Given the description of an element on the screen output the (x, y) to click on. 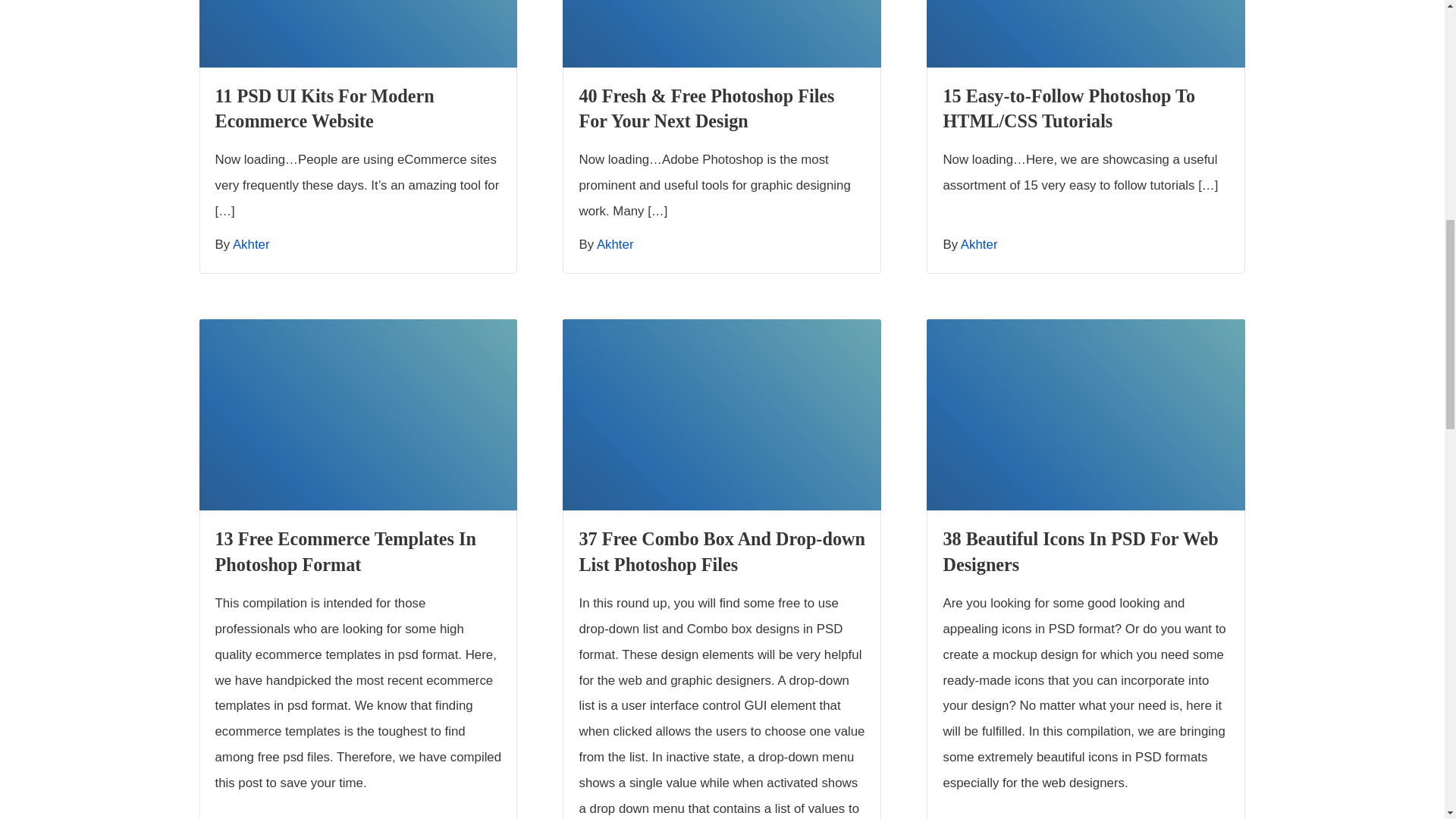
Akhter (978, 244)
Akhter (614, 244)
11 PSD UI Kits For Modern Ecommerce Website 38 (357, 33)
37 Free Combo Box And Drop-down List Photoshop Files 108 (721, 414)
37 Free Combo Box And Drop-down List Photoshop Files (721, 551)
READ FULL POST (721, 33)
11 PSD UI Kits For Modern Ecommerce Website (324, 108)
READ FULL POST (721, 414)
READ FULL POST (357, 414)
13 Free Ecommerce Templates In Photoshop Format 107 (357, 414)
13 Free Ecommerce Templates In Photoshop Format (345, 551)
READ FULL POST (1085, 33)
READ FULL POST (357, 33)
Akhter (250, 244)
38 Beautiful Icons In PSD For Web Designers 109 (1085, 414)
